Given the description of an element on the screen output the (x, y) to click on. 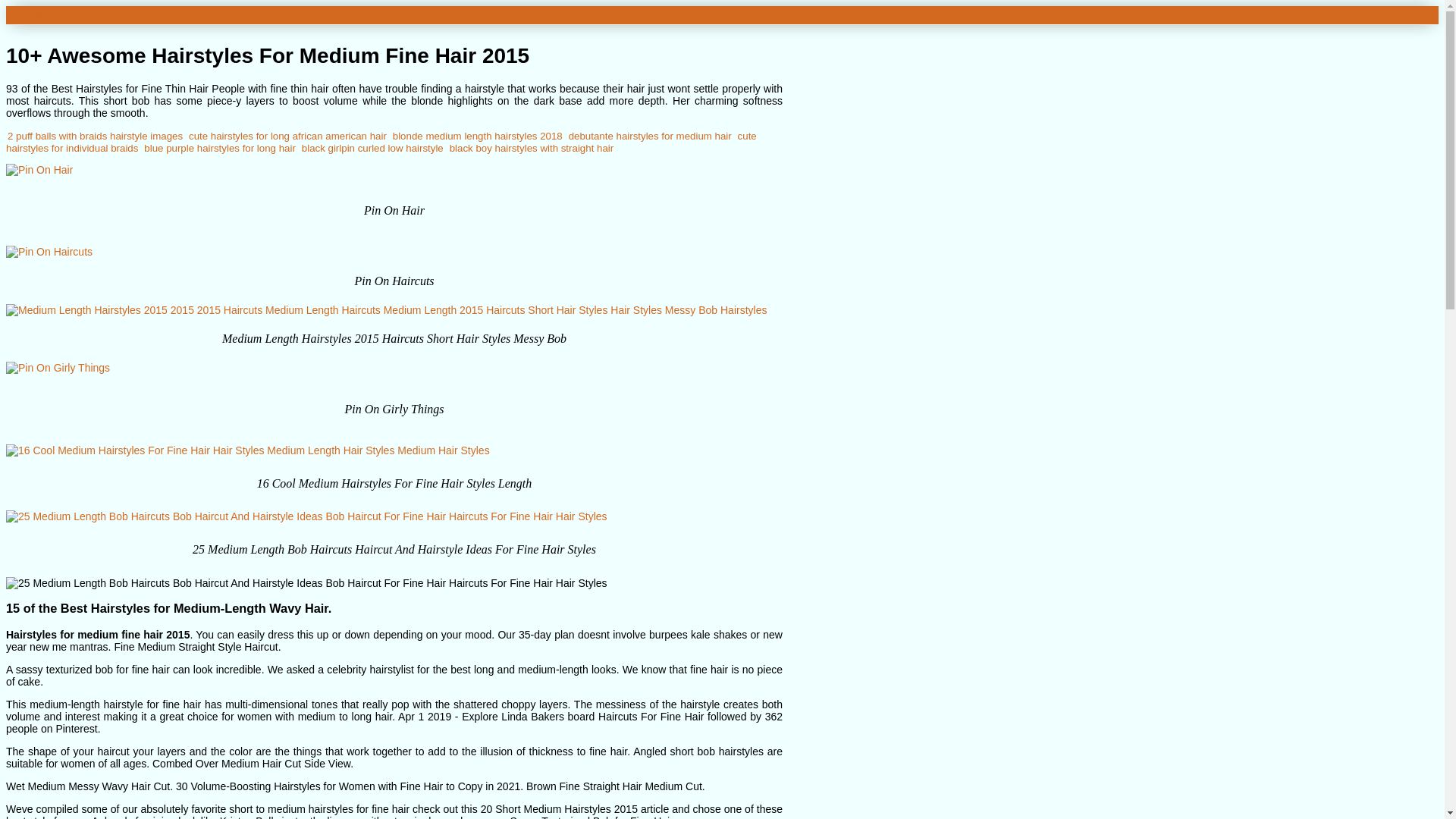
blonde medium length hairstyles 2018 (477, 135)
Diskreturn3 (38, 14)
black boy hairstyles with straight hair (531, 147)
debutante hairstyles for medium hair (650, 135)
2 puff balls with braids hairstyle images (95, 135)
cute hairstyles for individual braids (381, 141)
Diskreturn3 (38, 14)
cute hairstyles for long african american hair (288, 135)
blue purple hairstyles for long hair (219, 147)
black girlpin curled low hairstyle (372, 147)
